Given the description of an element on the screen output the (x, y) to click on. 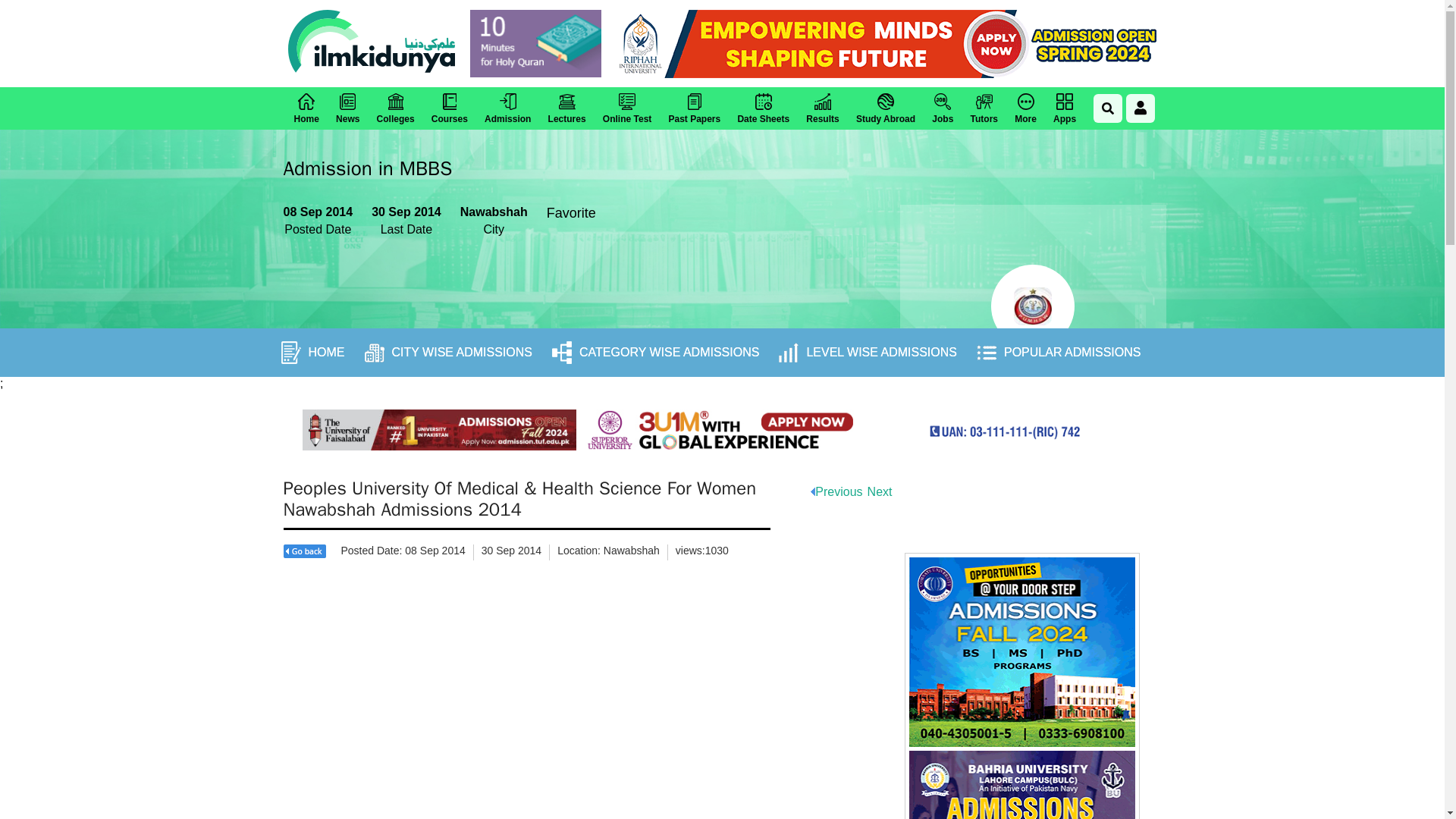
Advertisement (587, 703)
